Given the description of an element on the screen output the (x, y) to click on. 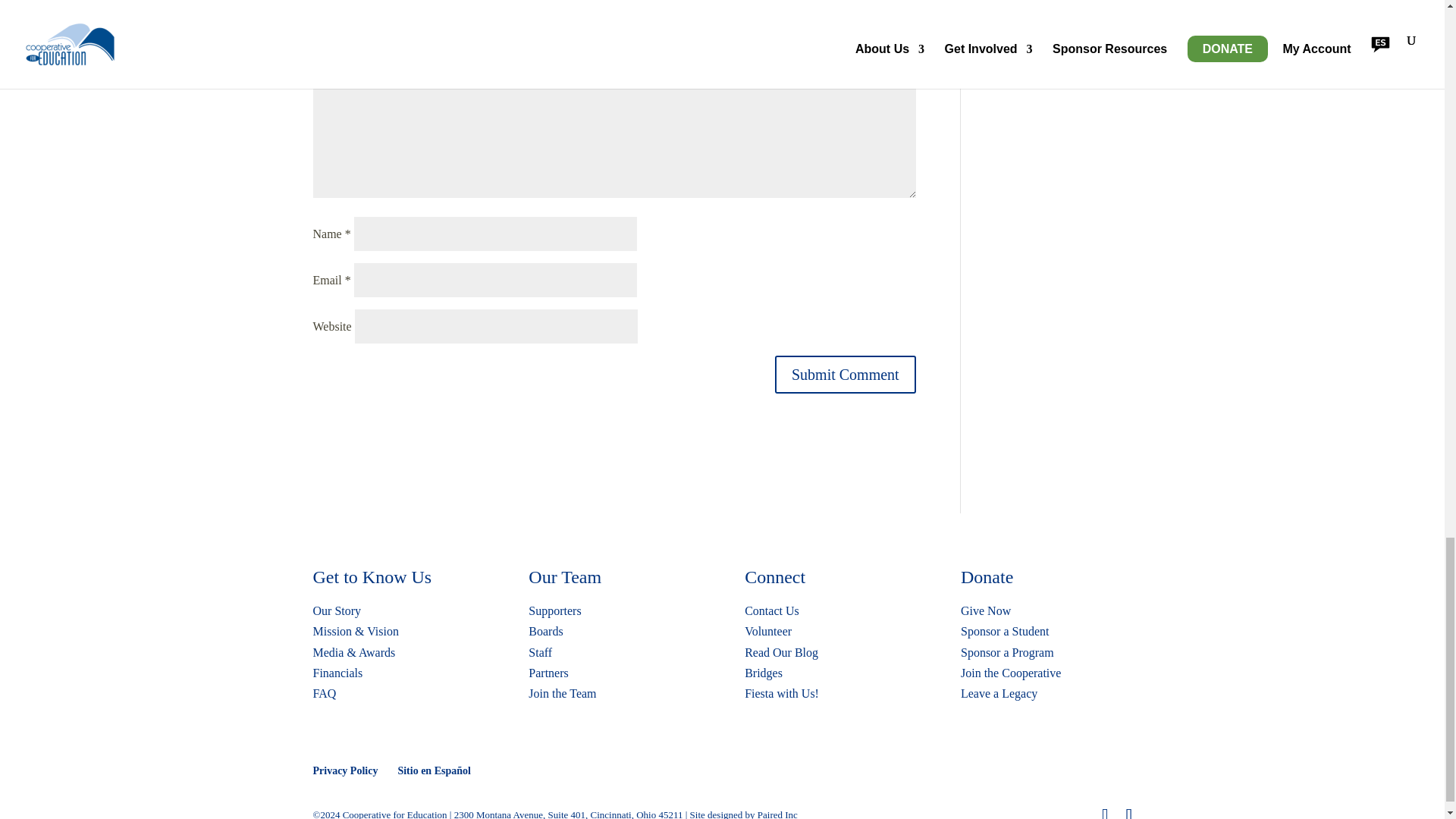
Submit Comment (844, 374)
Submit Comment (844, 374)
